Given the description of an element on the screen output the (x, y) to click on. 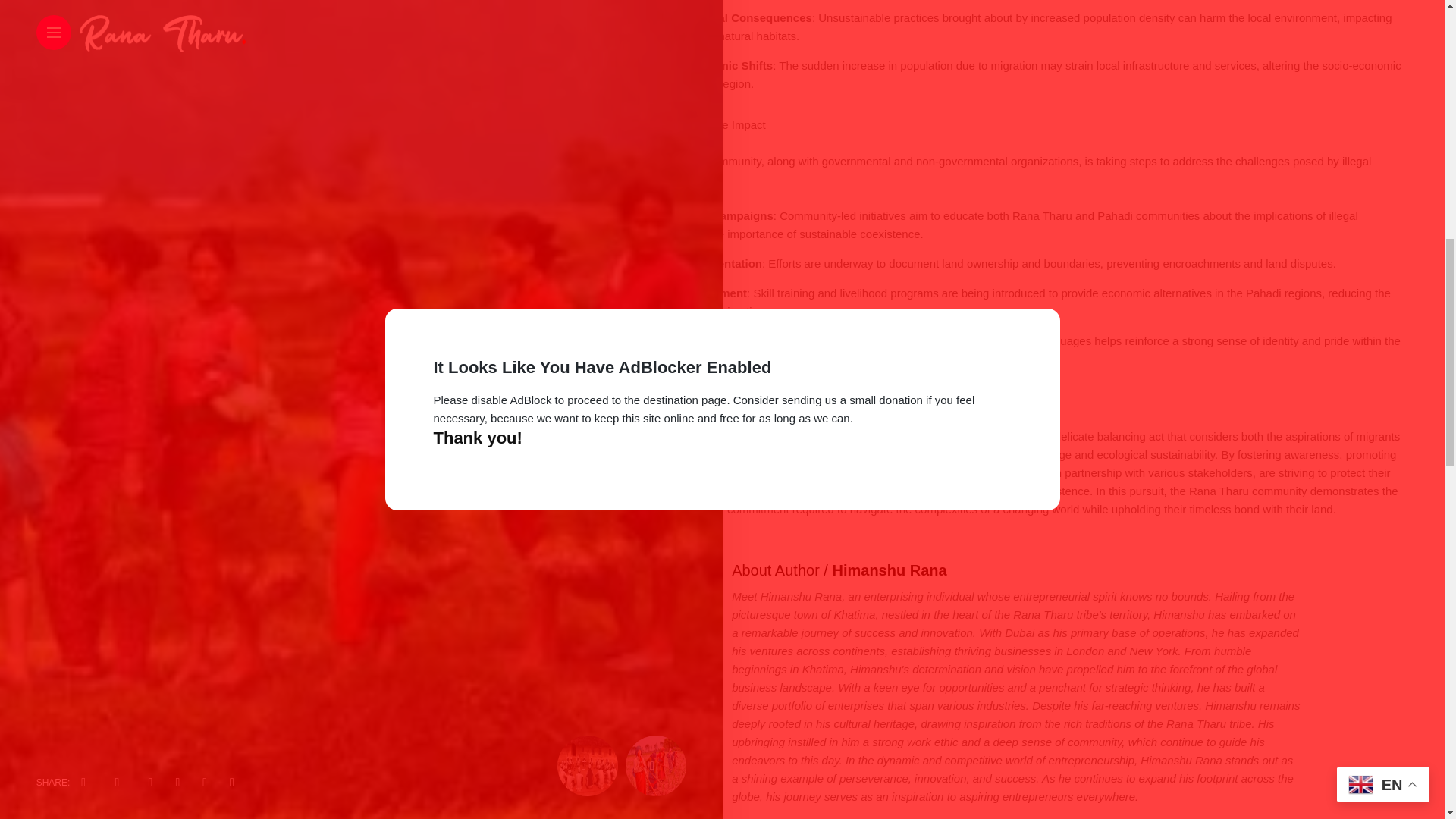
Posts by Himanshu Rana (888, 569)
